Given the description of an element on the screen output the (x, y) to click on. 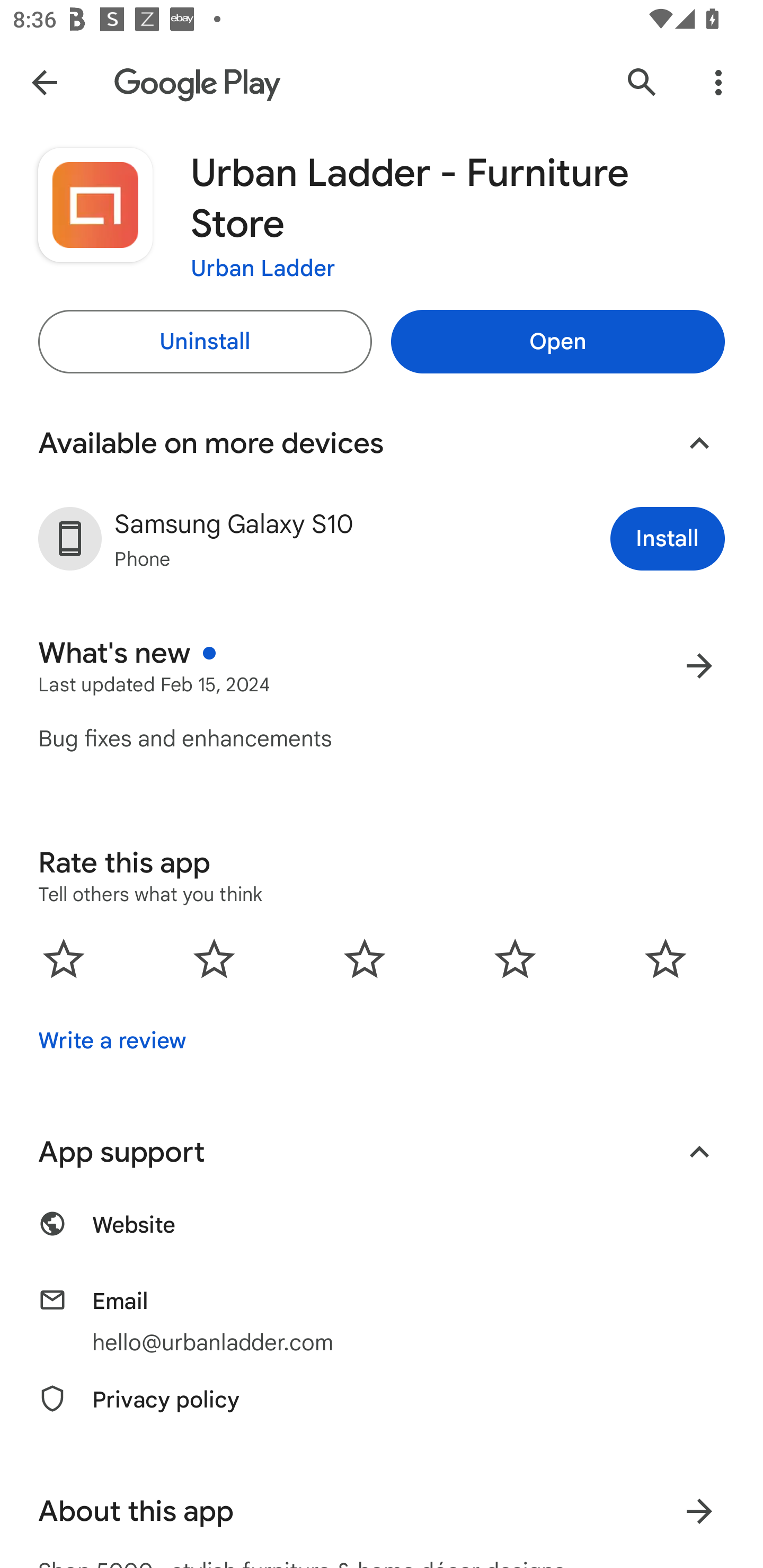
Navigate up (44, 81)
Search Google Play (642, 81)
More Options (718, 81)
Urban Ladder (262, 267)
Uninstall (205, 341)
Open (557, 341)
Available on more devices Collapse (381, 442)
Collapse (699, 442)
Install (667, 538)
More results for What's new (699, 665)
0.0 (364, 957)
Write a review (112, 1040)
App support Collapse (381, 1151)
Collapse (699, 1151)
Website (381, 1234)
Email hello@urbanladder.com (381, 1322)
Privacy policy (381, 1409)
About this app Learn more About this app (381, 1510)
Learn more About this app (699, 1511)
